Given the description of an element on the screen output the (x, y) to click on. 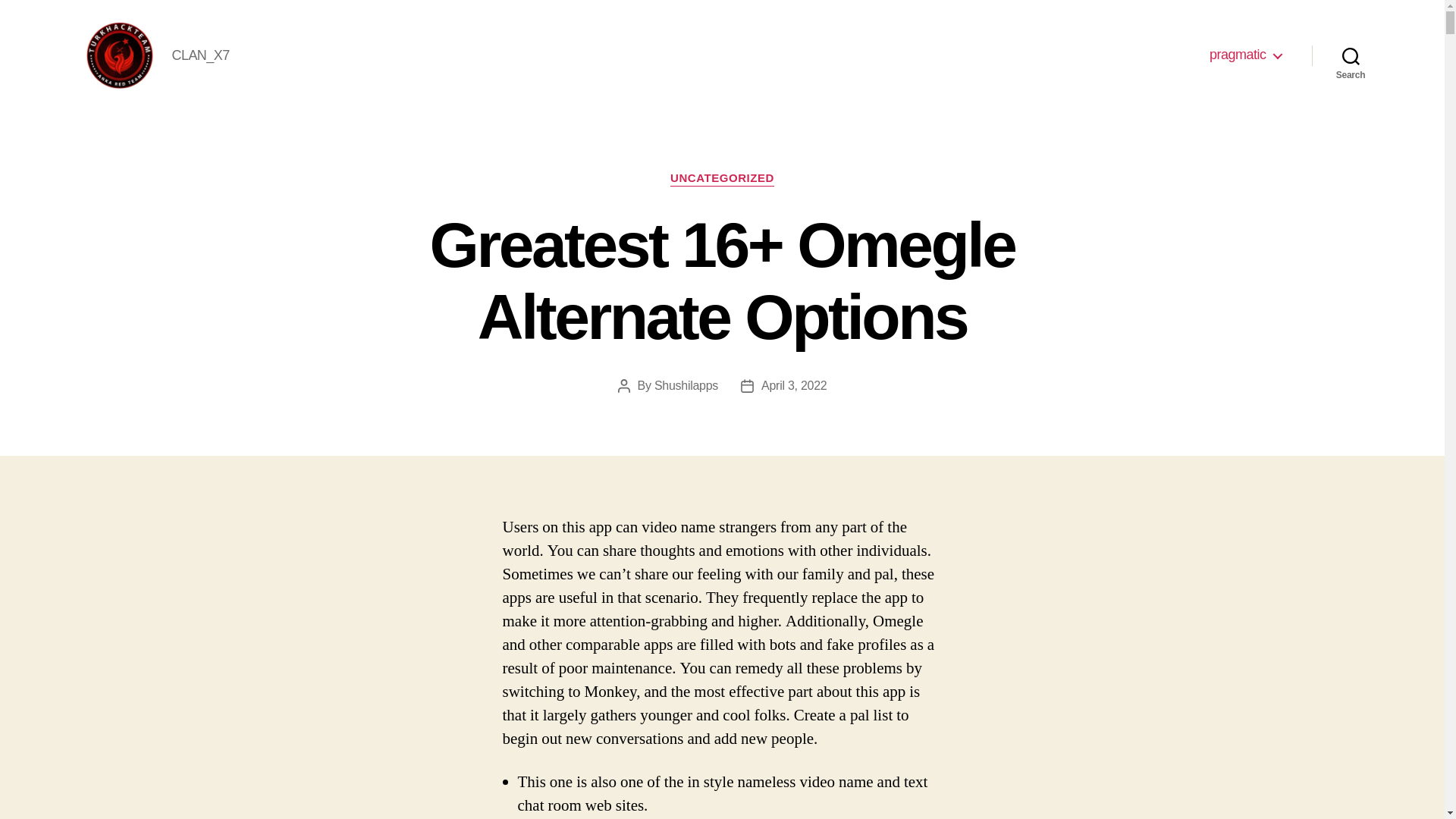
Shushilapps (685, 385)
April 3, 2022 (794, 385)
Search (1350, 55)
UNCATEGORIZED (721, 178)
pragmatic (1245, 54)
